Given the description of an element on the screen output the (x, y) to click on. 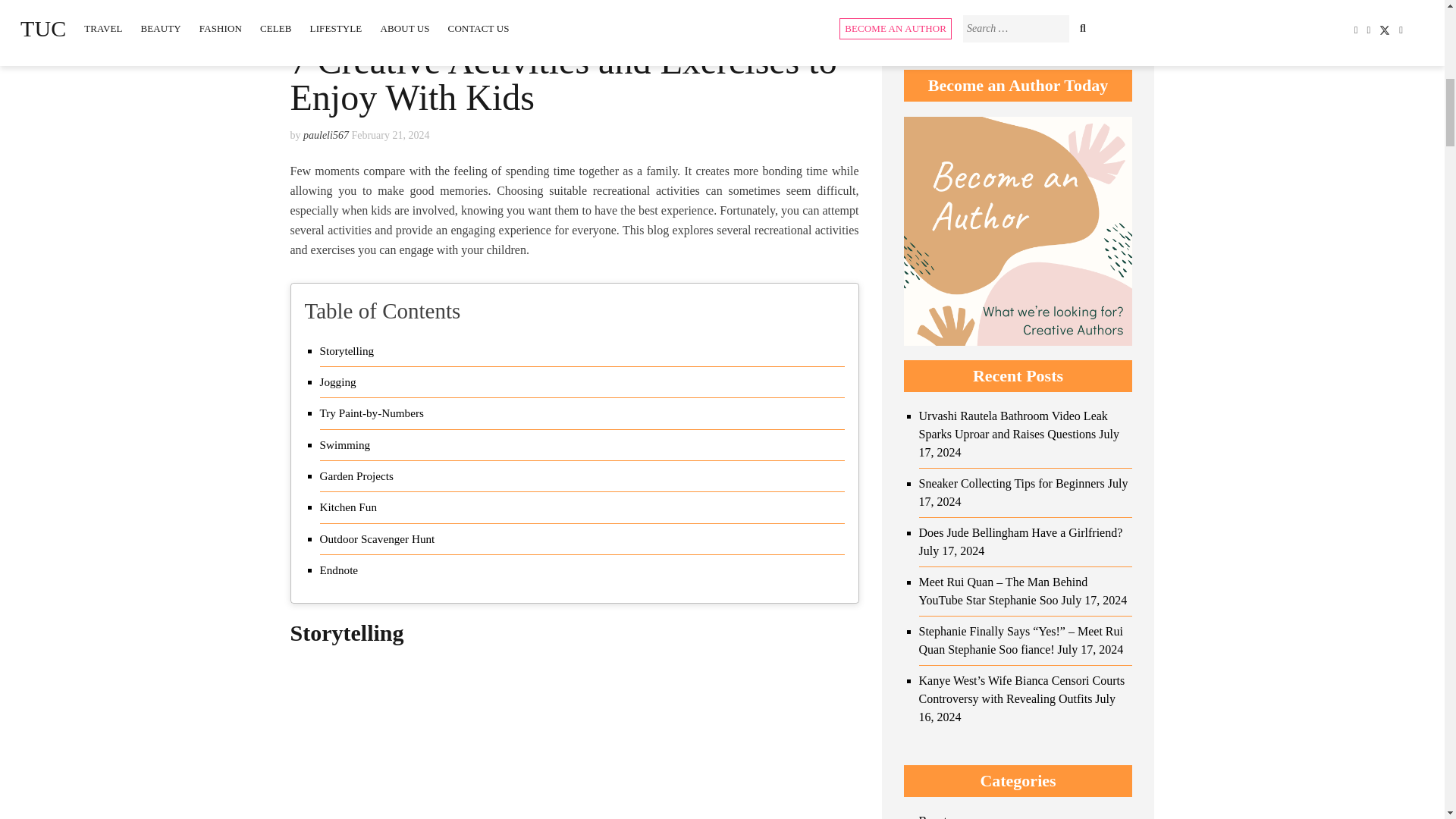
Garden Projects (356, 475)
Jogging (338, 382)
Storytelling (347, 351)
Storytelling (347, 351)
Jogging (338, 382)
Try Paint-by-Numbers (371, 413)
Garden Projects (356, 475)
Kitchen Fun (348, 506)
Endnote (339, 570)
Swimming (345, 444)
Endnote (339, 570)
Outdoor Scavenger Hunt (377, 538)
Outdoor Scavenger Hunt (377, 538)
LIFESTYLE (317, 34)
pauleli567 (325, 134)
